Given the description of an element on the screen output the (x, y) to click on. 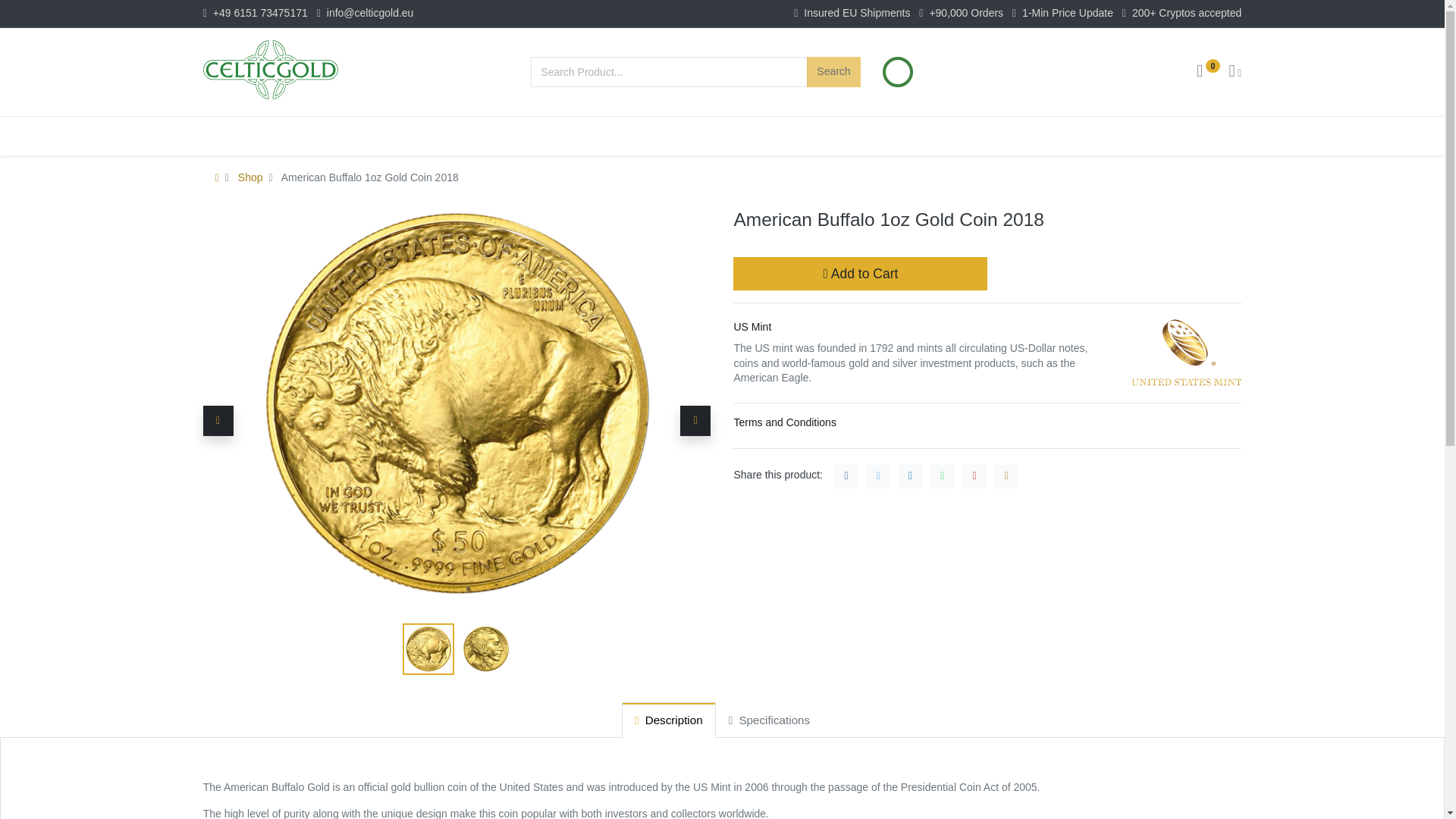
Search (833, 71)
CelticGold.eu (270, 69)
Automatic Price-Update (898, 72)
0 (1208, 72)
